Given the description of an element on the screen output the (x, y) to click on. 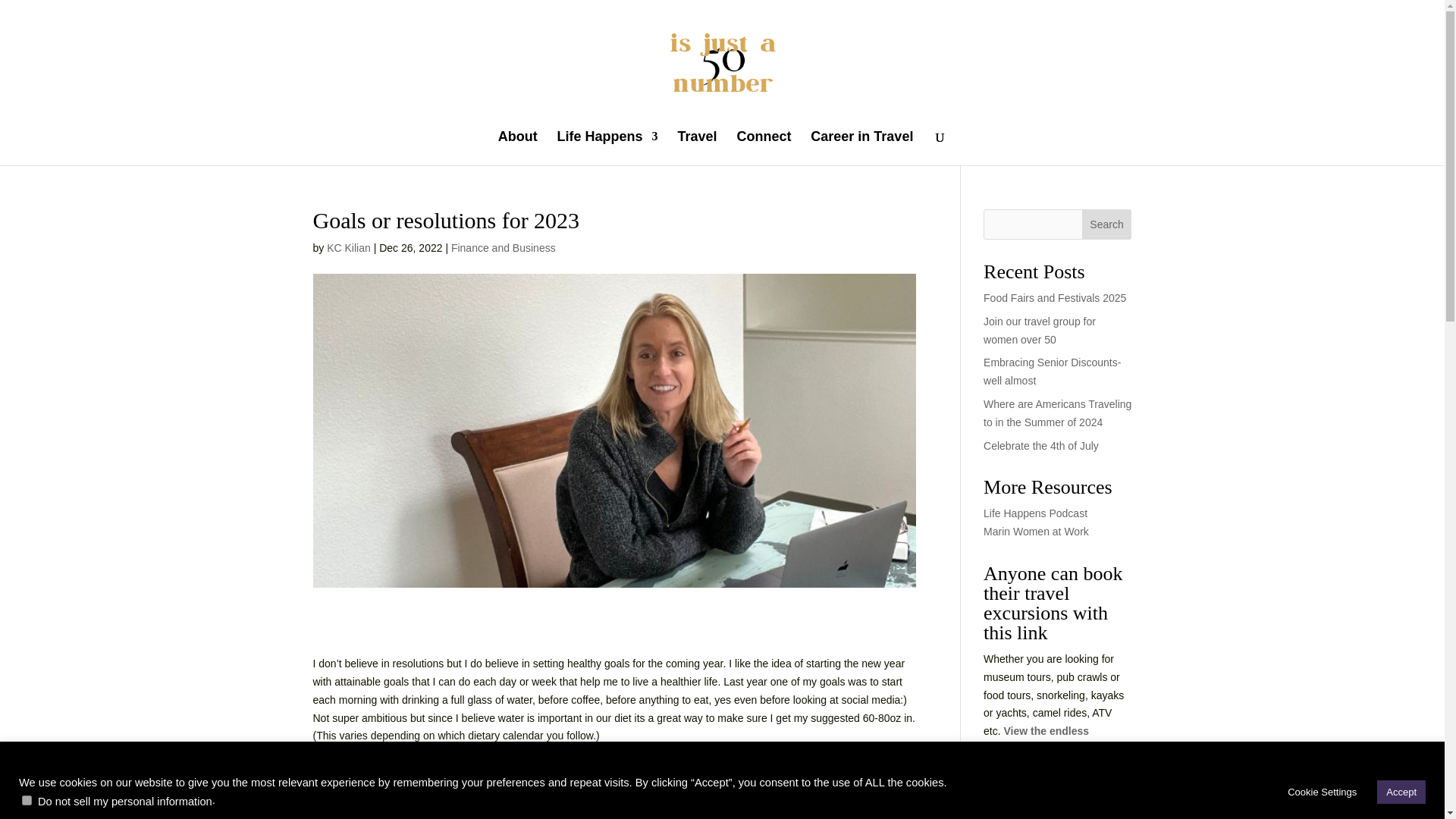
Life Happens (607, 148)
View the endless possibilities here (1036, 739)
Food Fairs and Festivals 2025 (1054, 297)
on (26, 800)
About (517, 148)
Posts by KC Kilian (348, 247)
Celebrate the 4th of July (1041, 445)
Search (1106, 224)
Join our travel group for women over 50 (1040, 330)
Connect (763, 148)
Life Happens Podcast (1035, 512)
Travel (696, 148)
Finance and Business (503, 247)
Career in Travel (861, 148)
Where are Americans Traveling to in the Summer of 2024 (1057, 413)
